Given the description of an element on the screen output the (x, y) to click on. 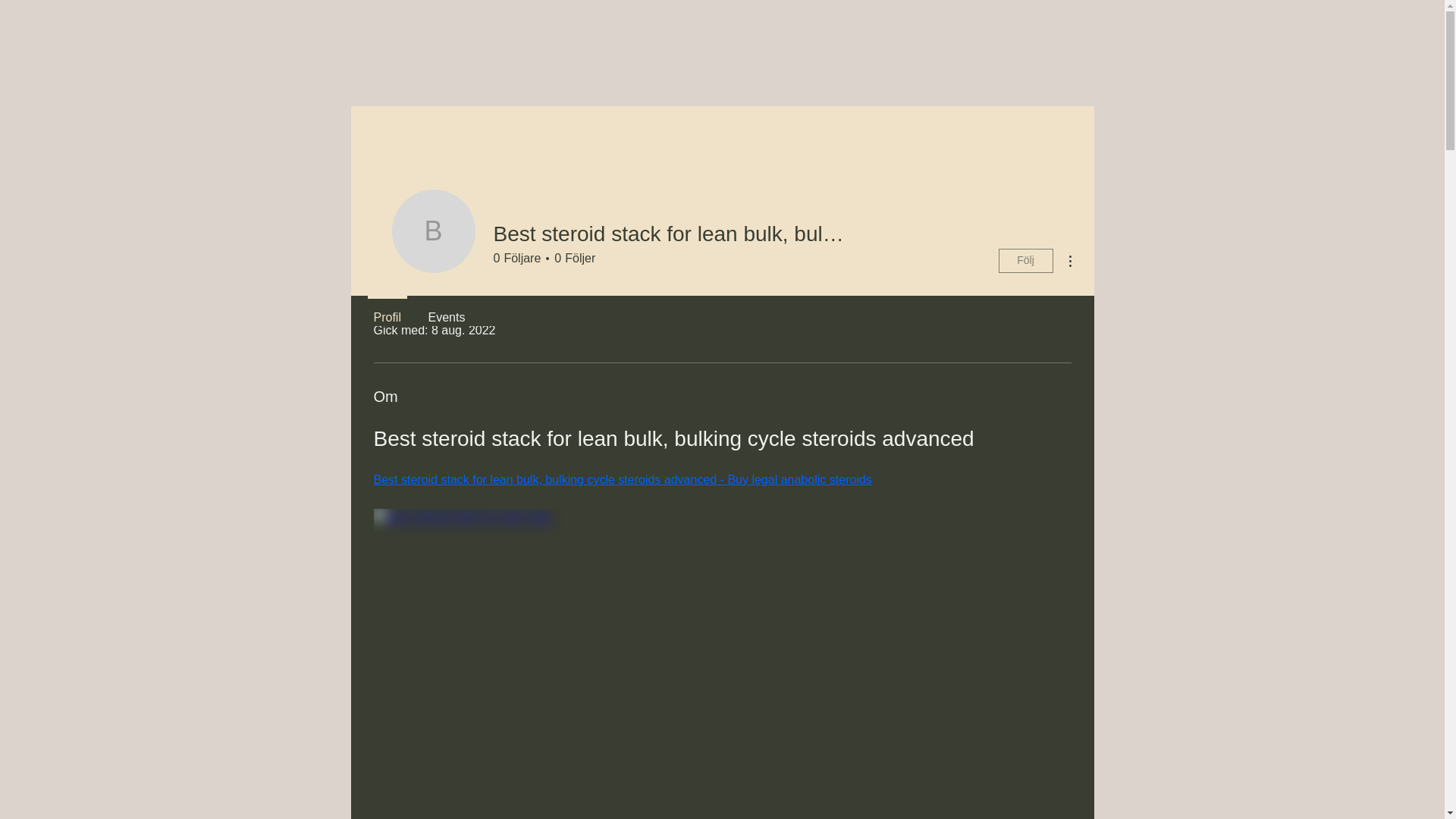
Events (446, 310)
Profil (386, 310)
